Given the description of an element on the screen output the (x, y) to click on. 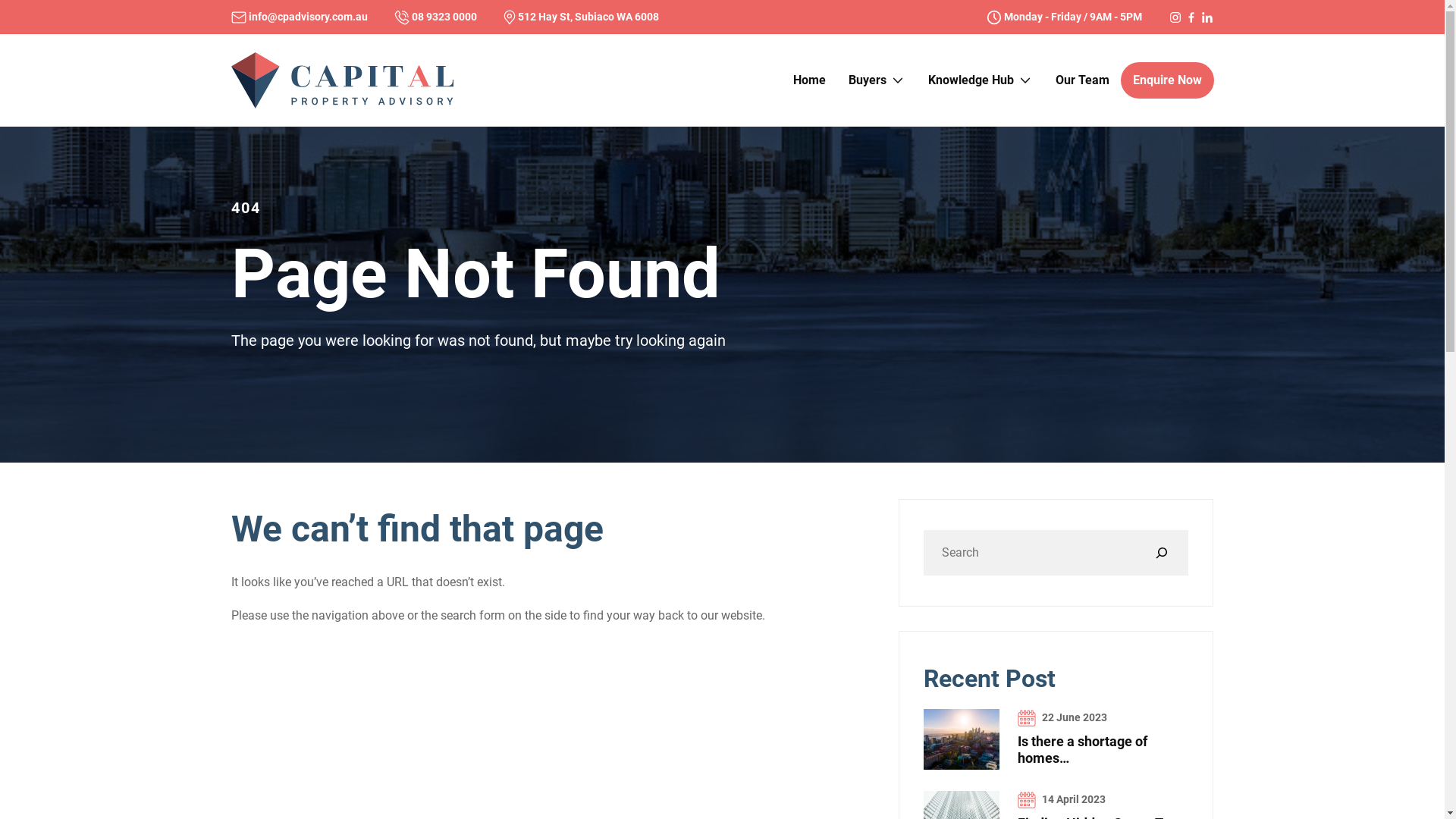
Our Team Element type: text (1081, 80)
info@cpadvisory.com.au Element type: text (298, 16)
Instagram Element type: hover (1174, 16)
Enquire Now Element type: text (1166, 80)
Home Element type: text (808, 80)
Facebook Element type: hover (1191, 16)
Buyers Element type: text (876, 80)
Knowledge Hub Element type: text (979, 80)
LinkedIn Element type: hover (1206, 16)
Capital Property Advisory Element type: hover (341, 79)
Is there a shortage of homes for sale? Element type: hover (961, 738)
08 9323 0000 Element type: text (435, 16)
